Given the description of an element on the screen output the (x, y) to click on. 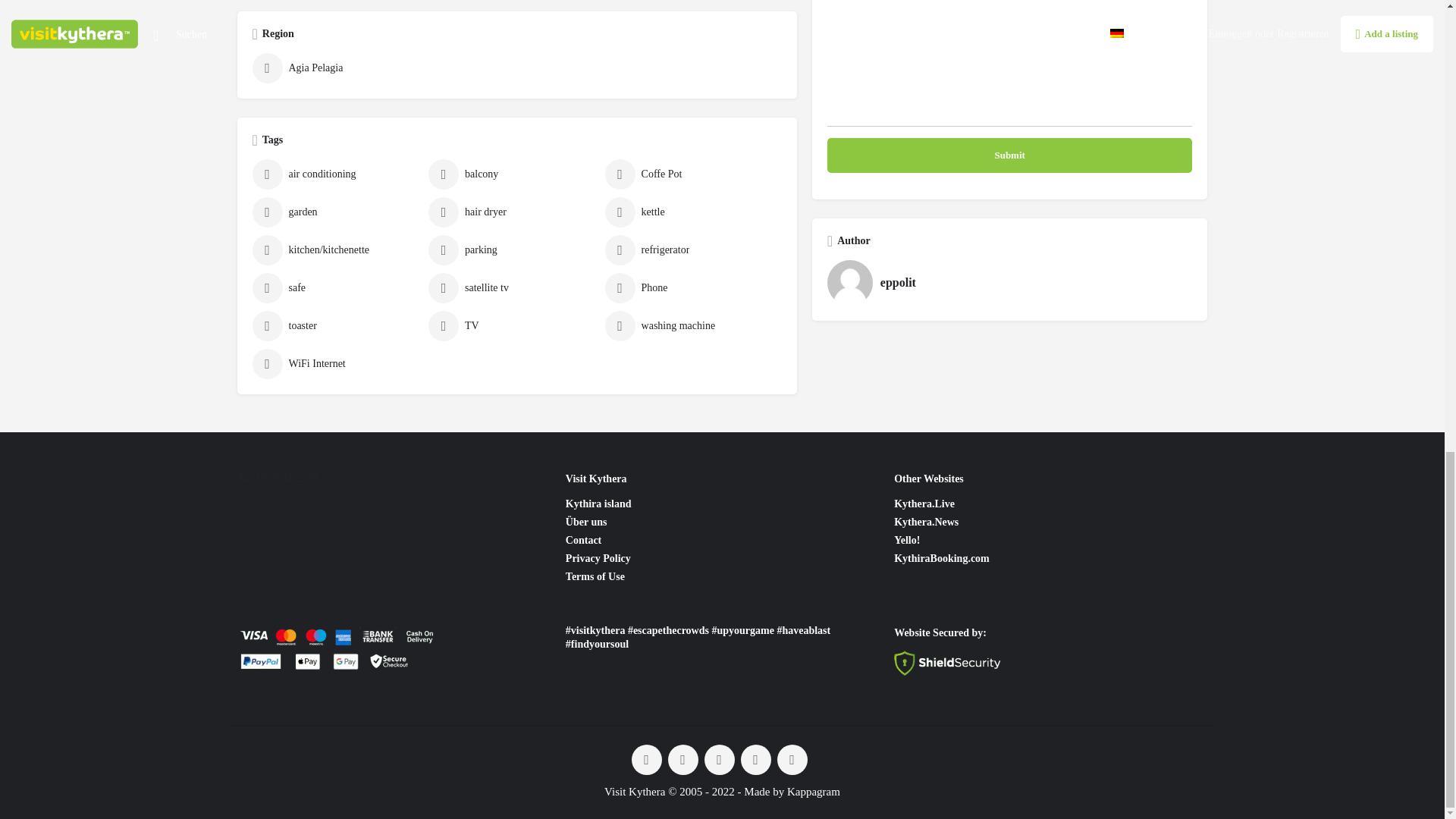
Submit (1009, 155)
